Given the description of an element on the screen output the (x, y) to click on. 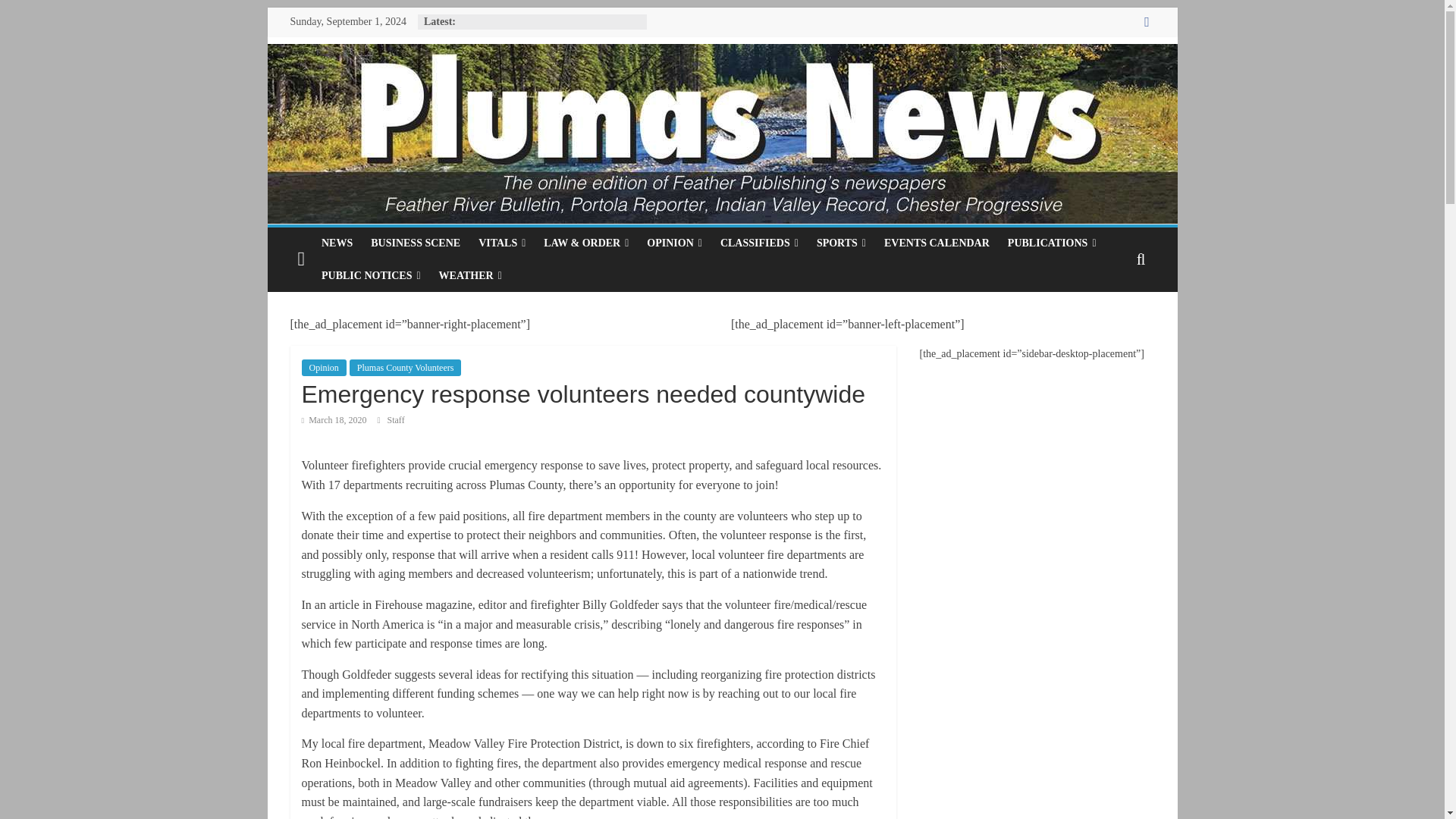
VITALS (501, 243)
NEWS (337, 243)
OPINION (674, 243)
8:36 am (333, 419)
EVENTS CALENDAR (936, 243)
BUSINESS SCENE (414, 243)
Staff (395, 419)
CLASSIFIEDS (759, 243)
SPORTS (841, 243)
